Given the description of an element on the screen output the (x, y) to click on. 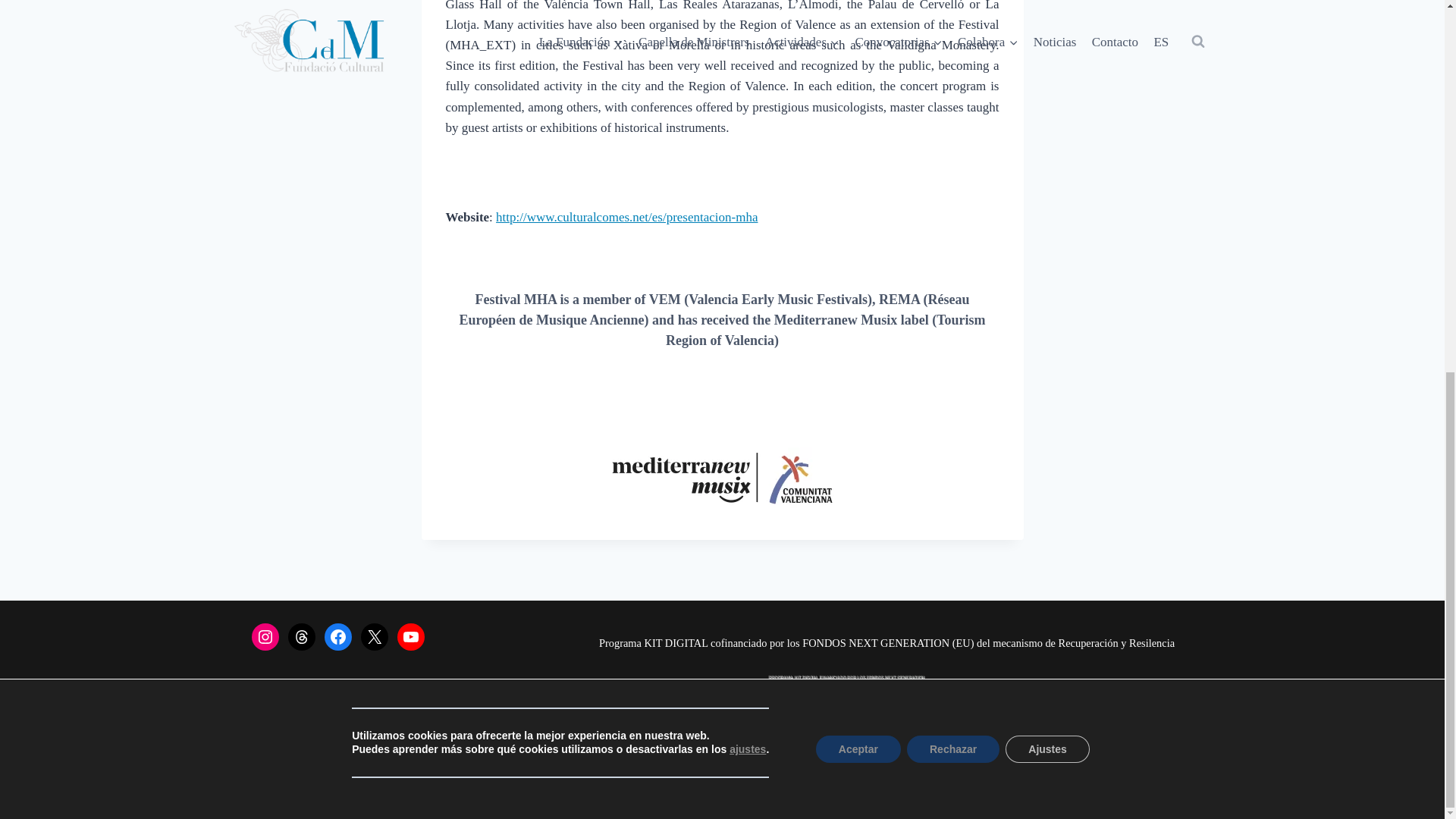
MHA Festival 1 (721, 478)
